Given the description of an element on the screen output the (x, y) to click on. 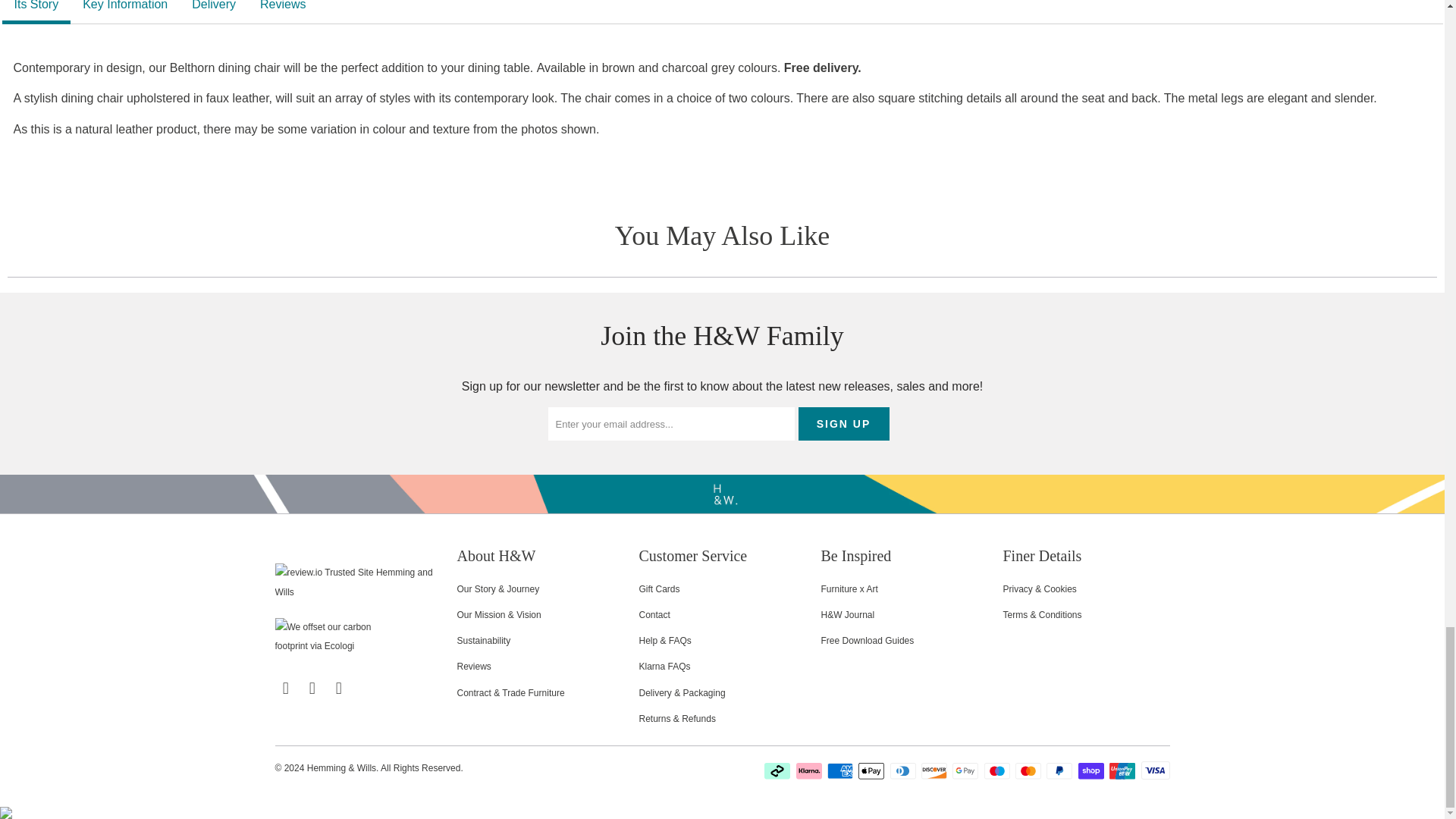
Diners Club (903, 770)
PayPal (1060, 770)
Clearpay (778, 770)
Klarna (810, 770)
Sign Up (842, 423)
Apple Pay (872, 770)
Discover (935, 770)
American Express (841, 770)
Union Pay (1123, 770)
Google Pay (966, 770)
